Given the description of an element on the screen output the (x, y) to click on. 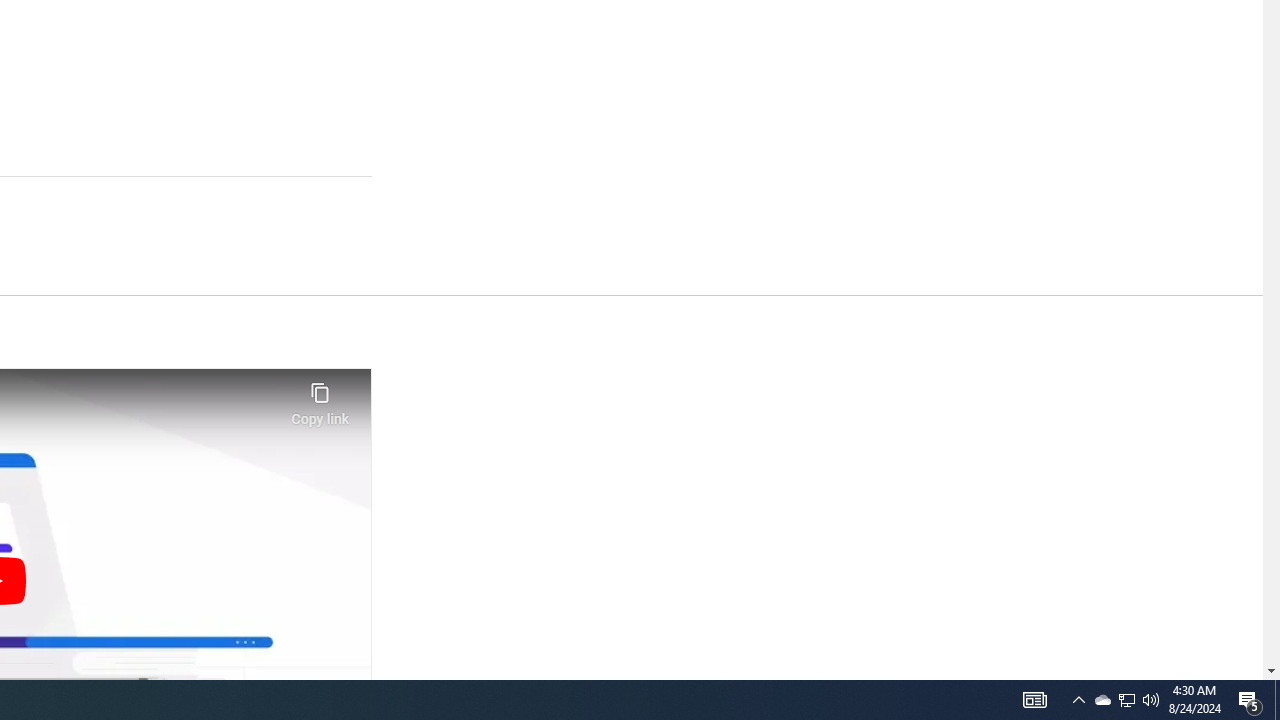
Copy link (319, 398)
